Given the description of an element on the screen output the (x, y) to click on. 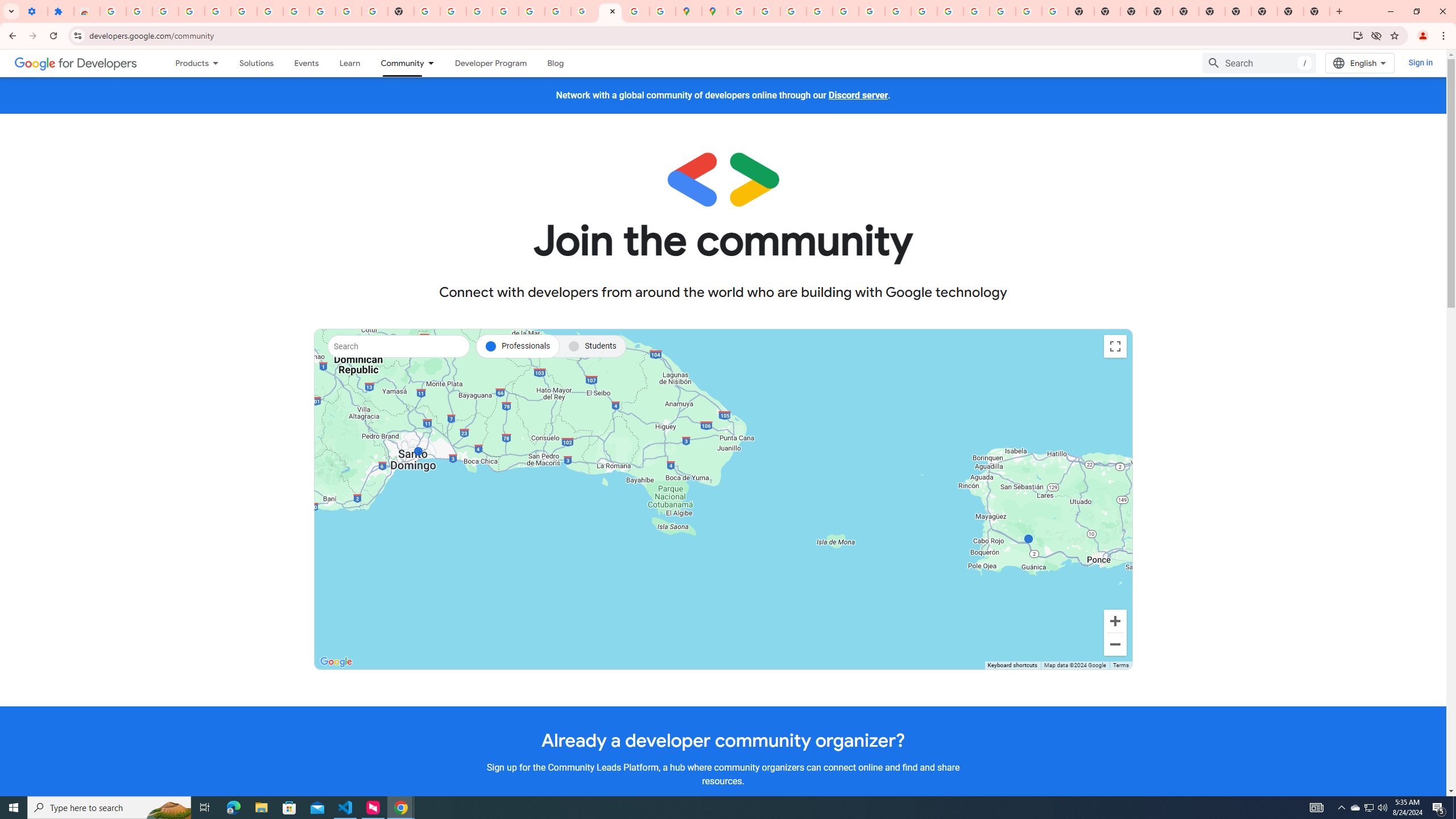
https://scholar.google.com/ (427, 11)
Learn how to find your photos - Google Photos Help (217, 11)
Discord server (858, 95)
Google Images (1054, 11)
Google Account (322, 11)
Google for Developers (75, 63)
Already a developer community organizer? (722, 739)
